Given the description of an element on the screen output the (x, y) to click on. 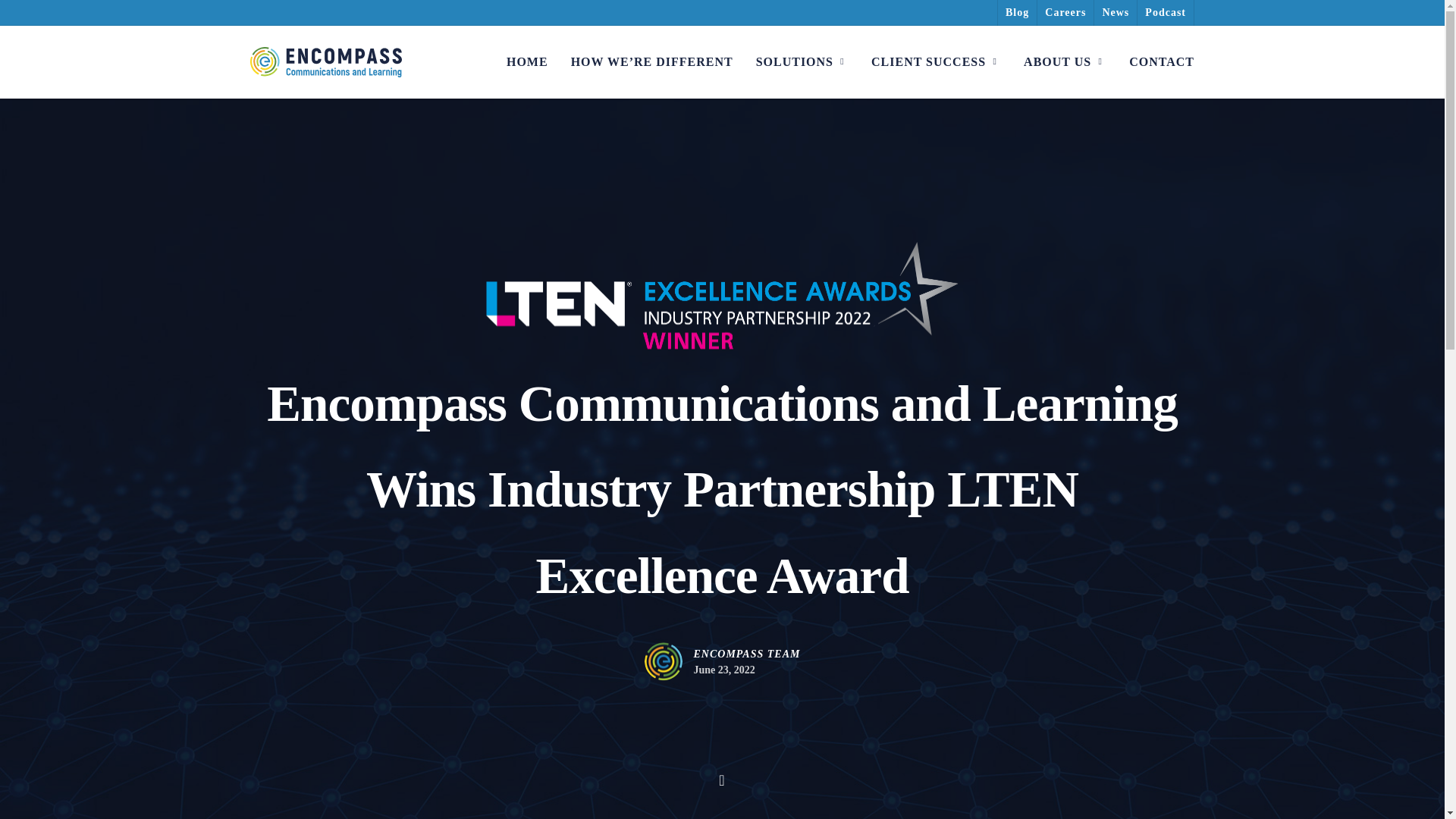
Careers (1064, 12)
ABOUT US (1064, 61)
Posts by Encompass Team (747, 654)
CONTACT (1161, 61)
HOME (527, 61)
Blog (1016, 12)
SOLUTIONS (801, 61)
CLIENT SUCCESS (935, 61)
News (1115, 12)
Podcast (1165, 12)
